Given the description of an element on the screen output the (x, y) to click on. 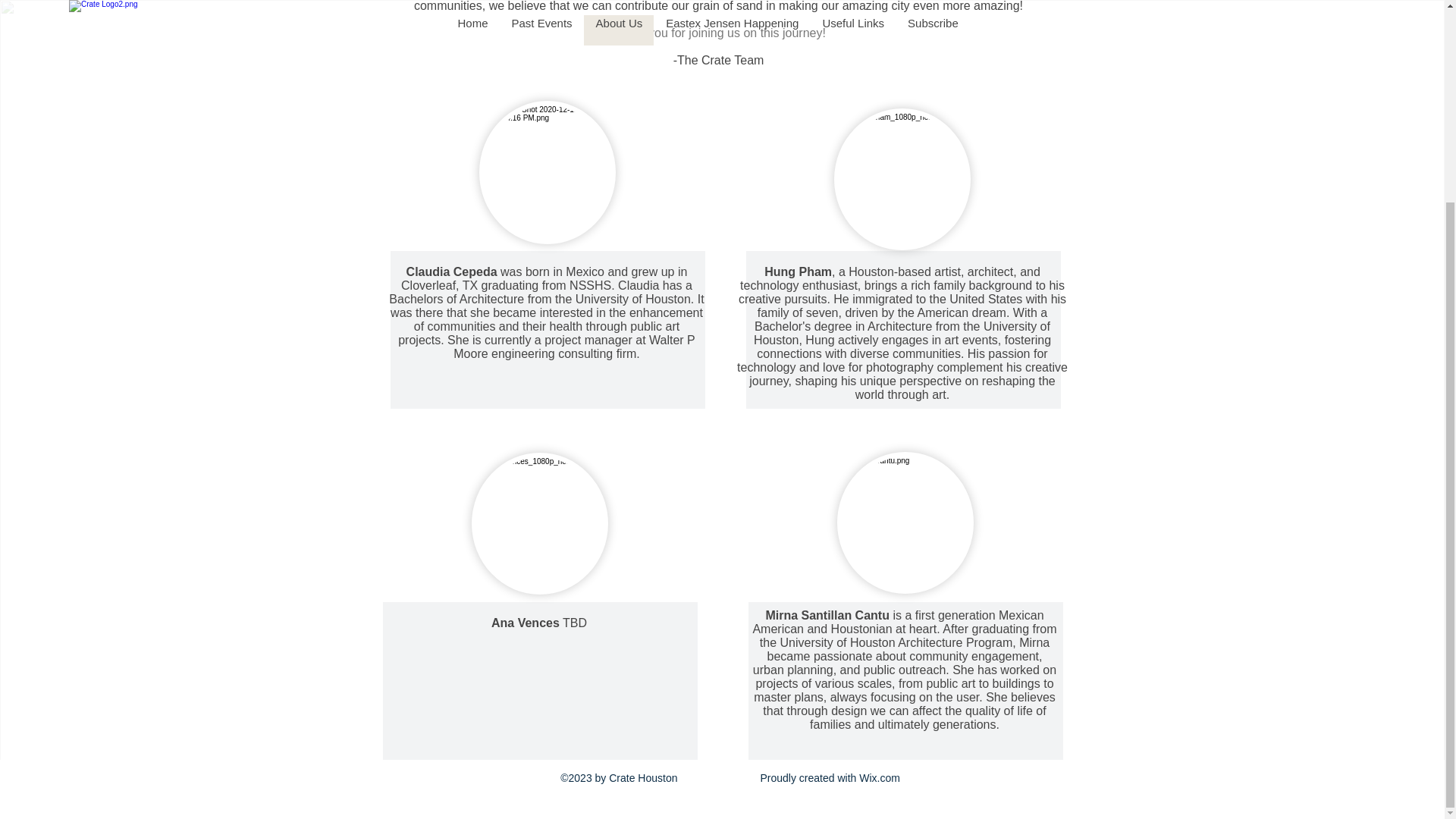
Proudly created with Wix.com (829, 777)
